Given the description of an element on the screen output the (x, y) to click on. 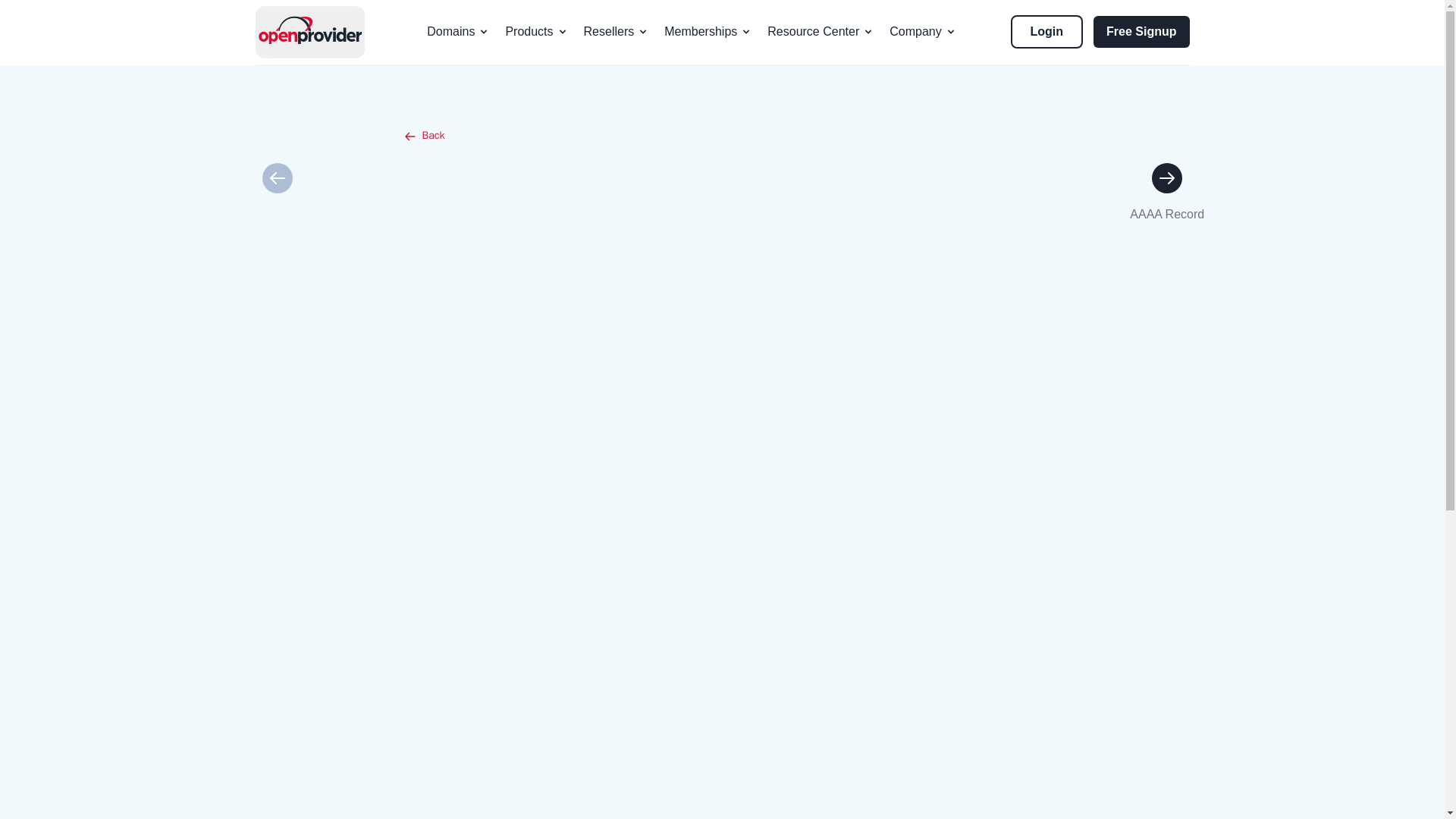
Free Signup (1135, 31)
Memberships (707, 31)
Back (722, 117)
OpenProvider (309, 31)
Company (922, 31)
Login (1046, 31)
Products (536, 31)
Resource Center (821, 31)
Resellers (616, 31)
Domains (457, 31)
